Given the description of an element on the screen output the (x, y) to click on. 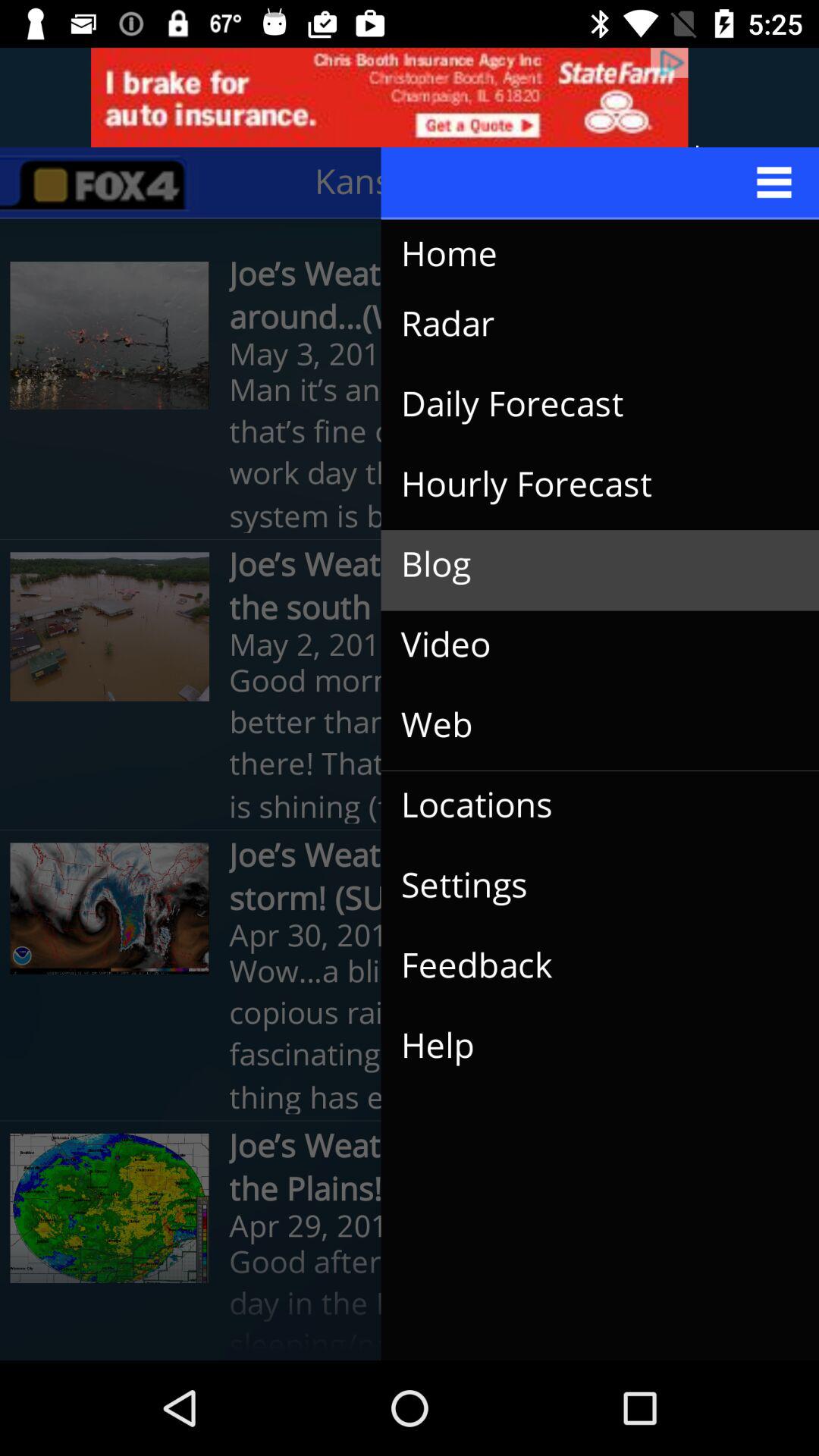
turn on item above help (587, 965)
